Given the description of an element on the screen output the (x, y) to click on. 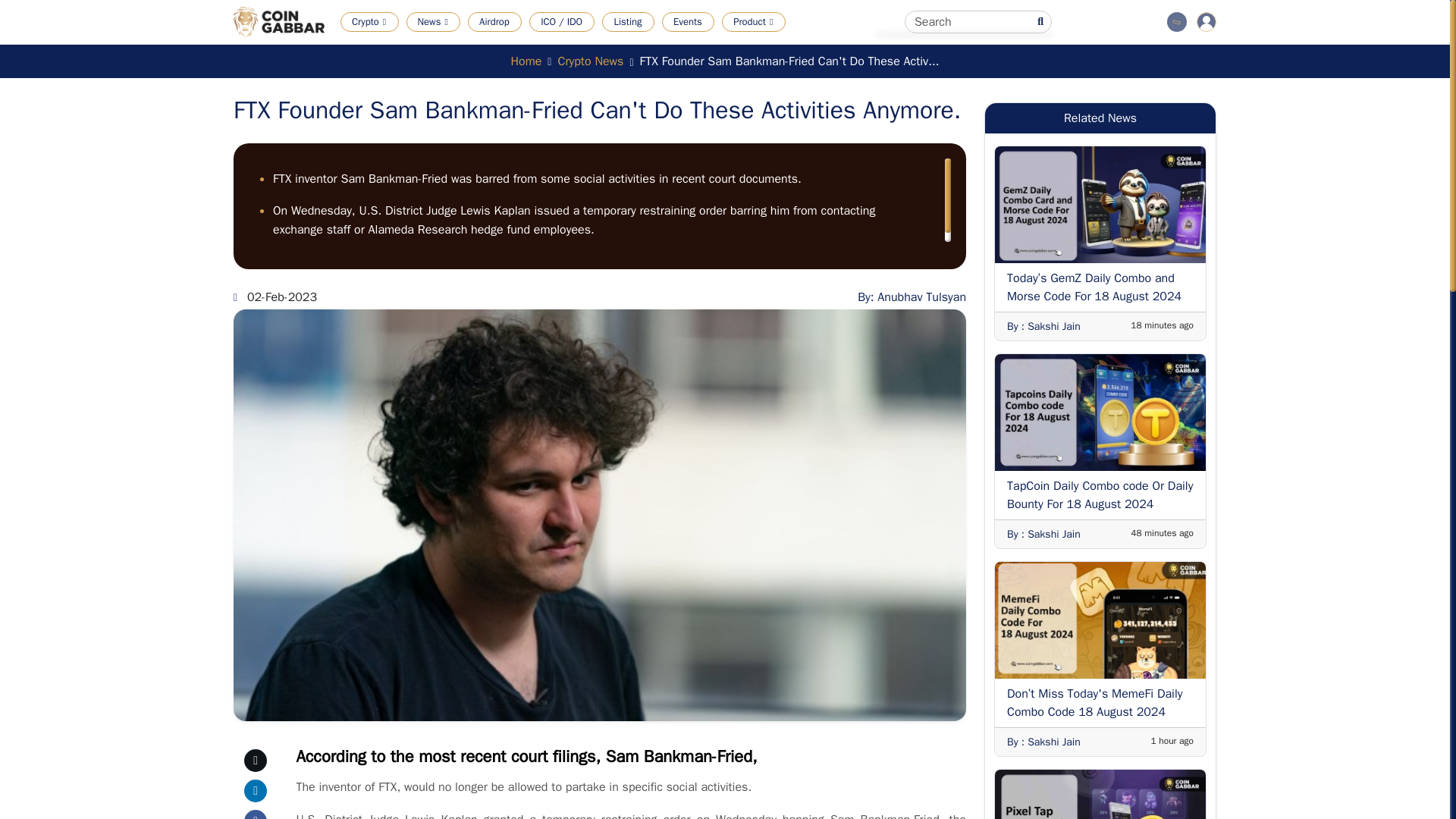
Crypto Currency News (462, 43)
All Blogs (579, 43)
Top Gainers (519, 43)
All News (462, 43)
TOP CRYPTO CURRENCY GAINERS (519, 43)
Cryptocurrency (405, 43)
Bitcoin (686, 43)
Cryptocurrency (405, 43)
